Given the description of an element on the screen output the (x, y) to click on. 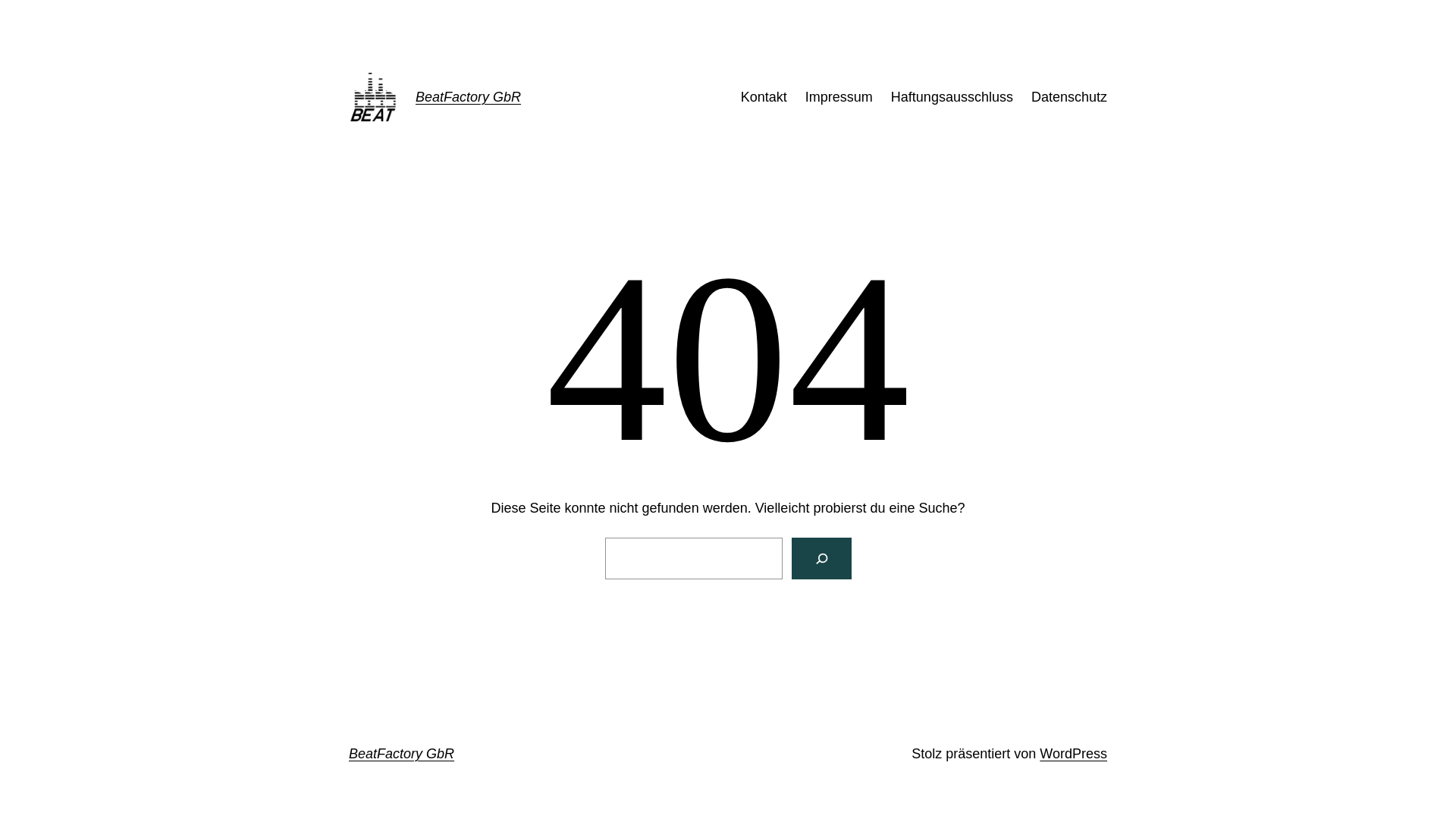
WordPress Element type: text (1073, 753)
Impressum Element type: text (838, 97)
Kontakt Element type: text (763, 97)
BeatFactory GbR Element type: text (401, 753)
BeatFactory GbR Element type: text (467, 96)
Datenschutz Element type: text (1069, 97)
Haftungsausschluss Element type: text (952, 97)
